Given the description of an element on the screen output the (x, y) to click on. 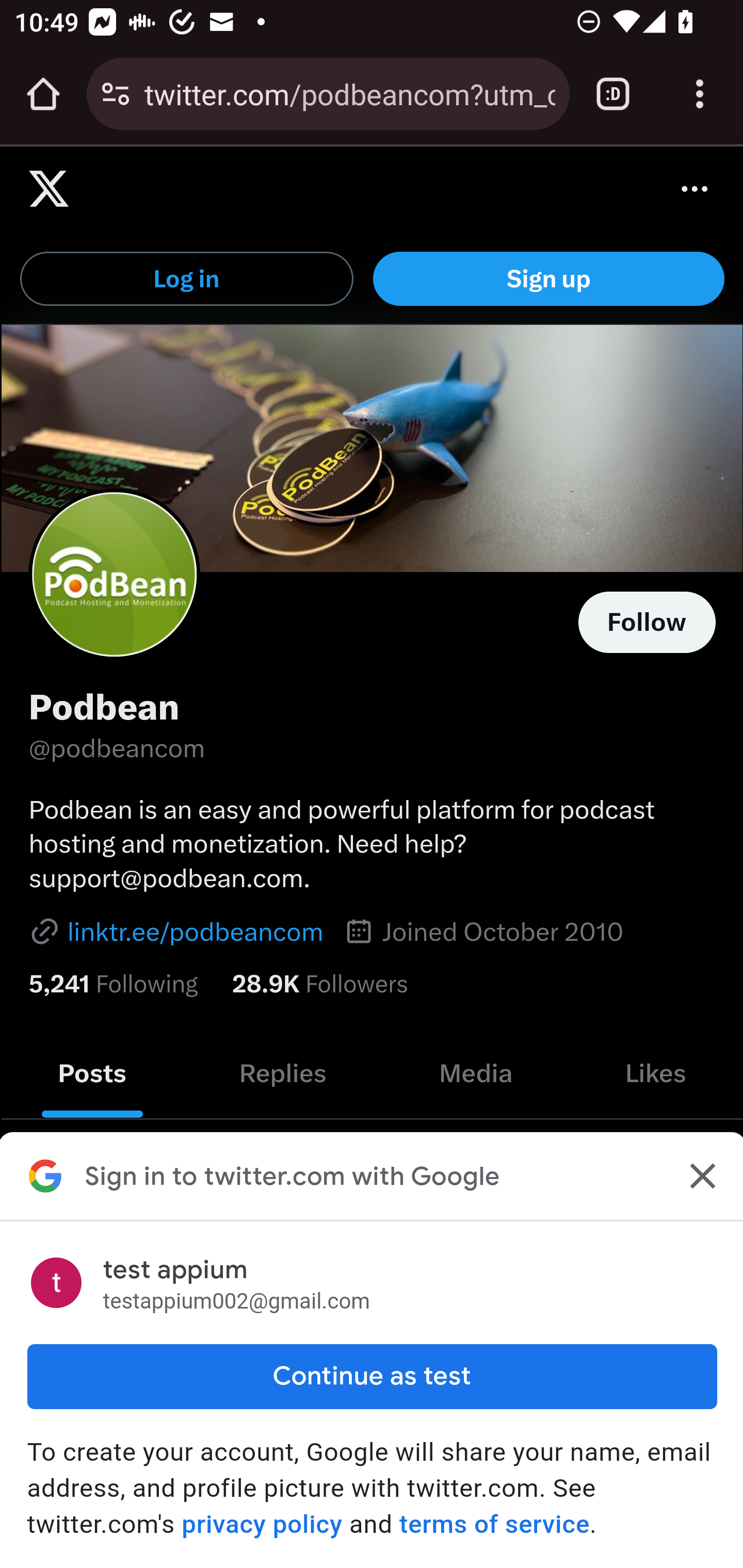
Open the home page (43, 93)
Connection is secure (115, 93)
Switch or close tabs (612, 93)
Customize and control Google Chrome (699, 93)
Skip to home timeline (30, 174)
Follow @podbeancom (647, 621)
linktr.ee/podbeancom (175, 930)
5,241 Following 5,241   Following (112, 983)
28.9K Followers 28.9K   Followers (320, 983)
Posts (92, 1073)
Replies (283, 1073)
Media (475, 1073)
Likes (654, 1073)
Close (700, 1175)
Continue as test (371, 1376)
privacy policy (261, 1523)
terms of service (493, 1523)
